Given the description of an element on the screen output the (x, y) to click on. 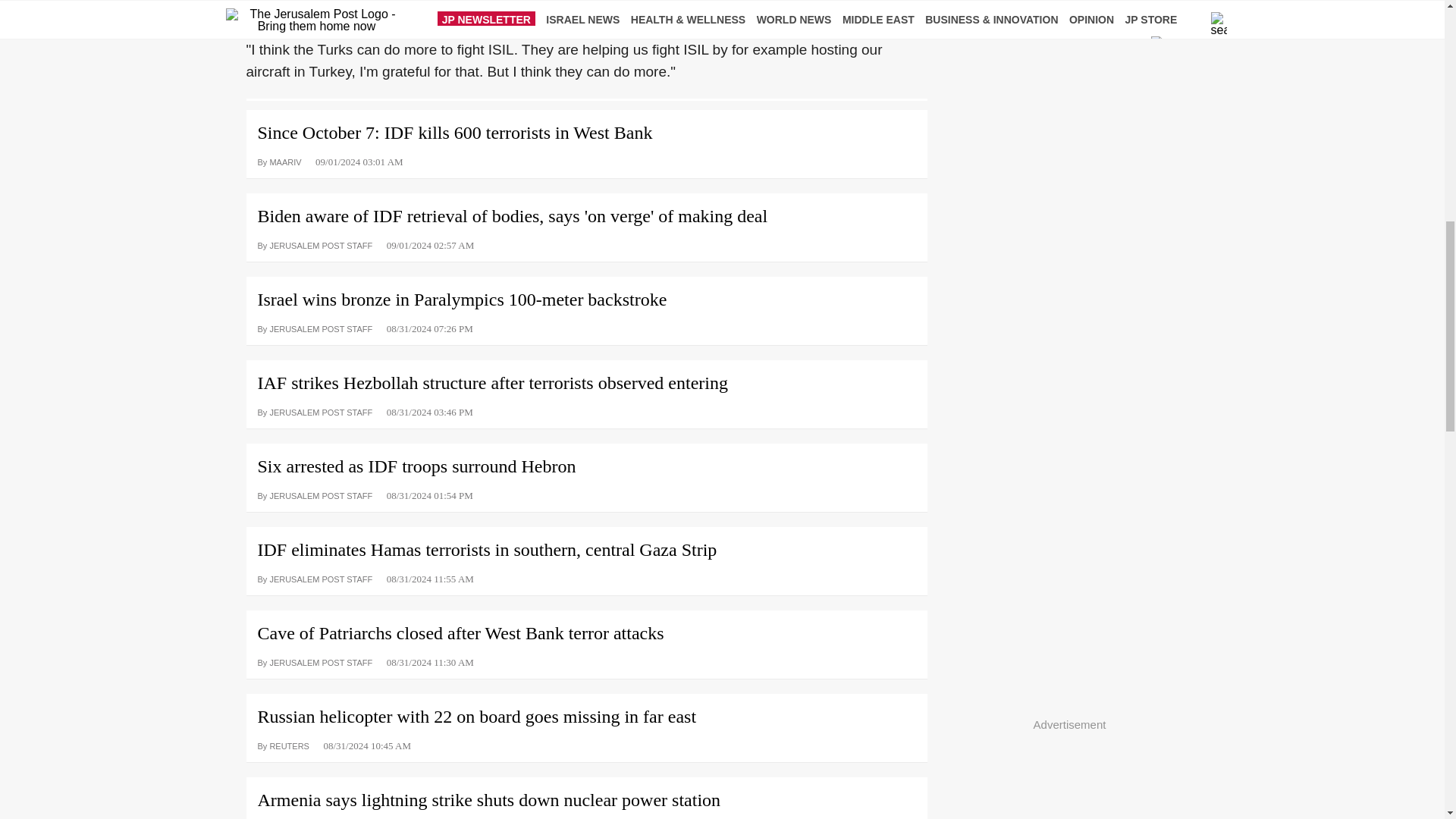
Israel wins bronze in Paralympics 100-meter backstroke (586, 293)
Six arrested as IDF troops surround Hebron (586, 460)
By JERUSALEM POST STAFF (314, 244)
Israel wins bronze in Paralympics 100-meter backstroke (586, 293)
By JERUSALEM POST STAFF (314, 327)
Since October 7: IDF kills 600 terrorists in West Bank (586, 139)
